Given the description of an element on the screen output the (x, y) to click on. 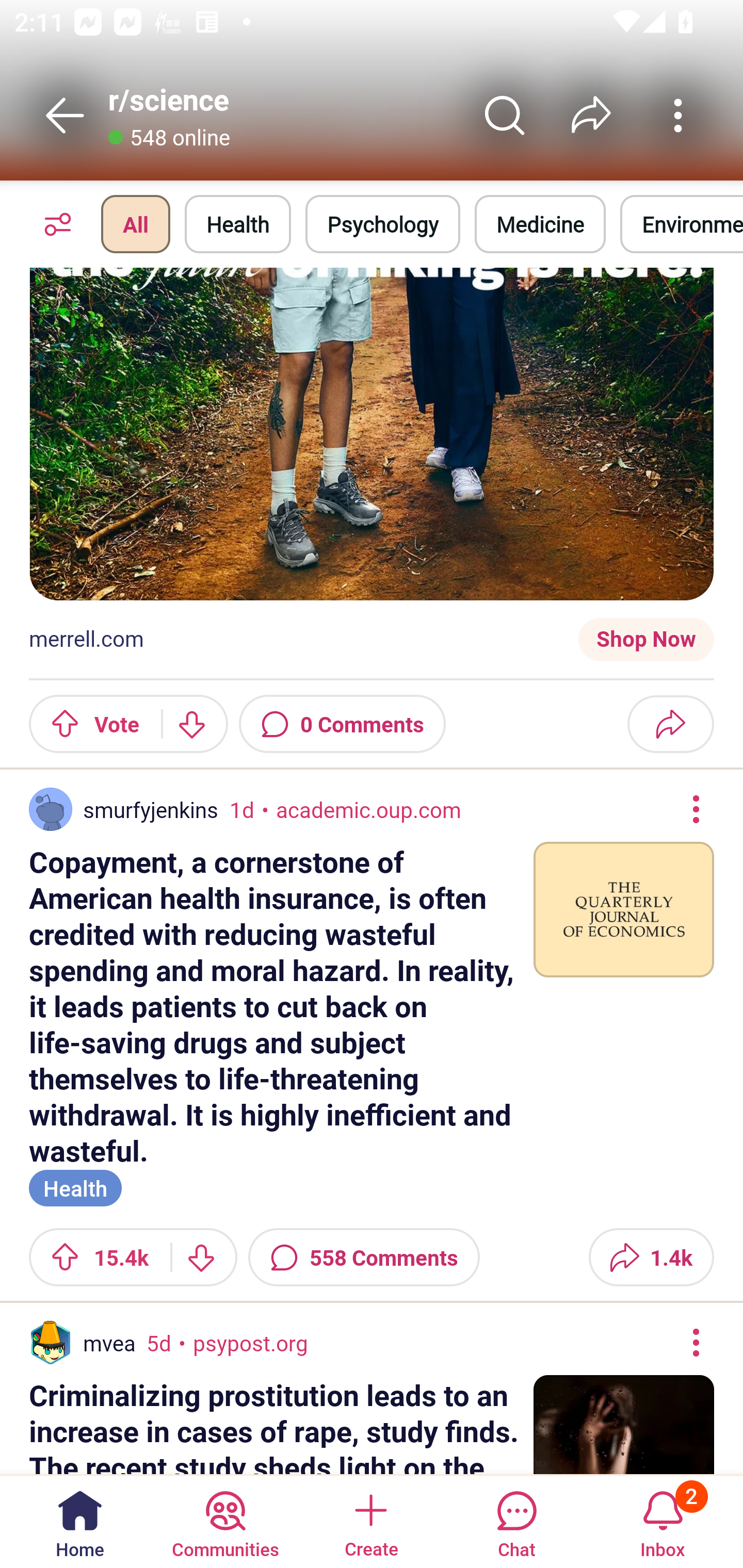
Back (64, 115)
Search r/﻿science (504, 115)
Share r/﻿science (591, 115)
More community actions (677, 115)
Feed Options (53, 224)
All (135, 224)
Health (238, 224)
Psychology (382, 224)
Medicine (539, 224)
Environment (681, 224)
Health (74, 1185)
Home (80, 1520)
Communities (225, 1520)
Create a post Create (370, 1520)
Chat (516, 1520)
Inbox, has 2 notifications 2 Inbox (662, 1520)
